Given the description of an element on the screen output the (x, y) to click on. 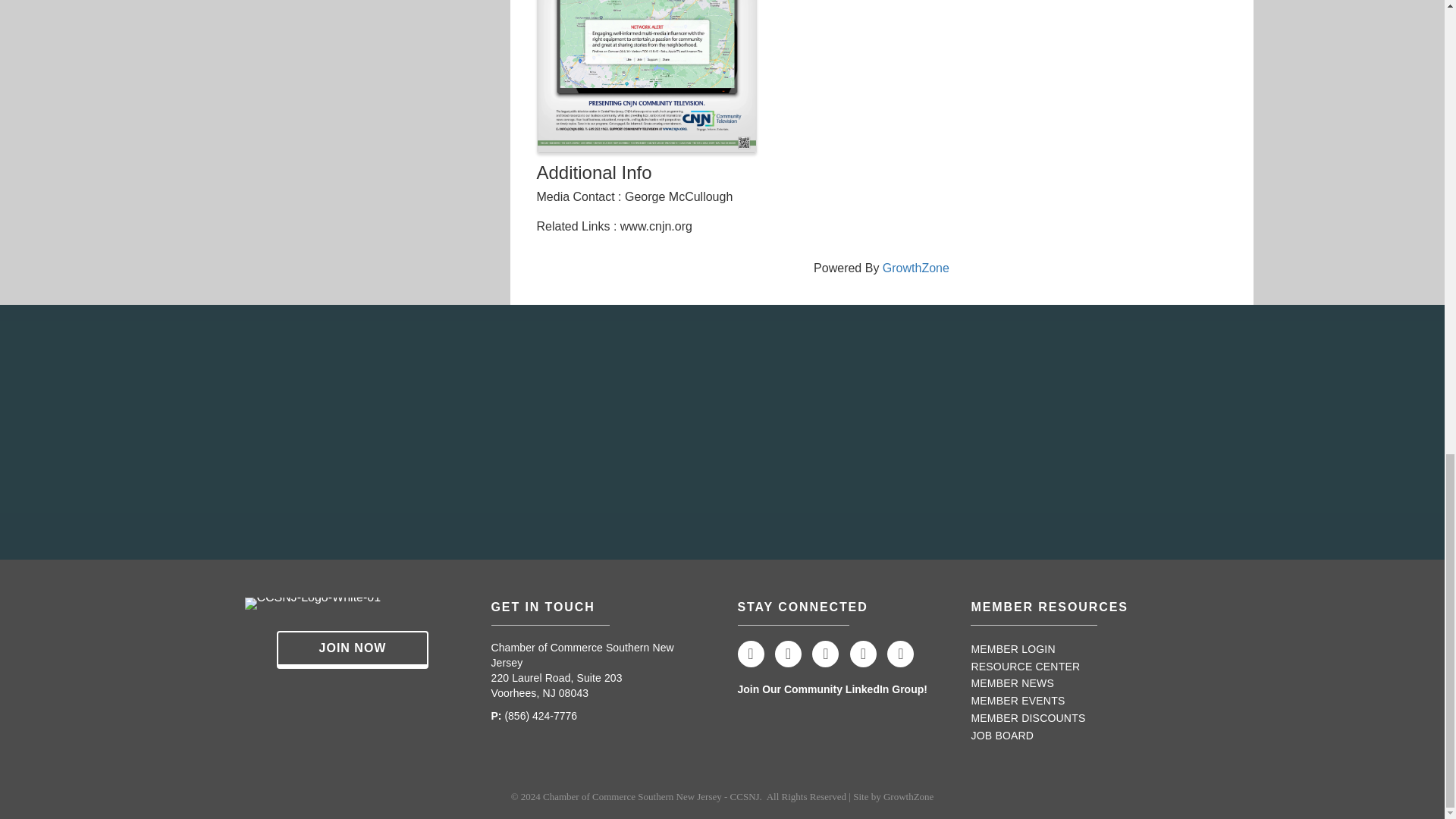
CCSNJ-Logo-White-01 (312, 603)
